Given the description of an element on the screen output the (x, y) to click on. 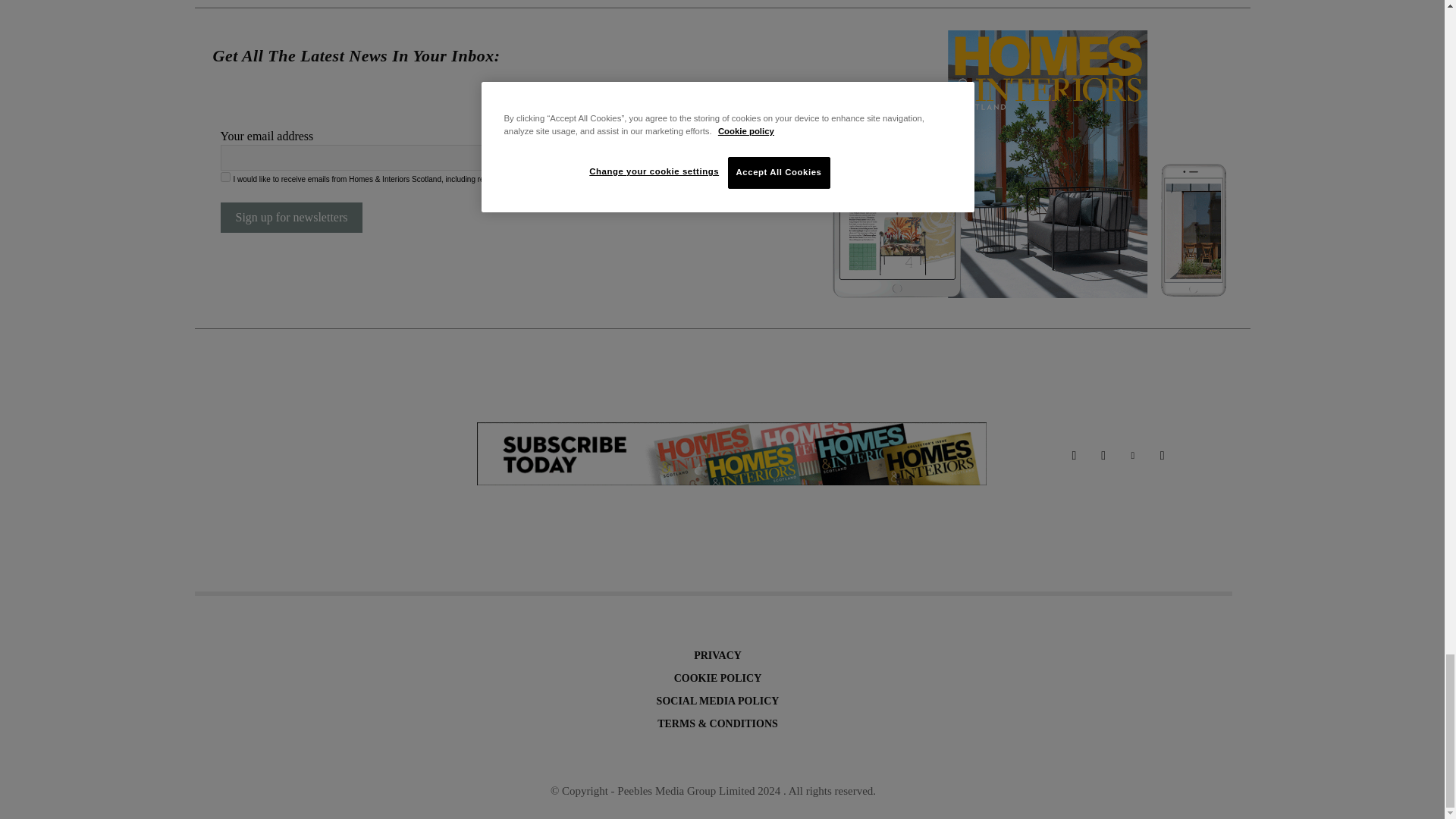
Sign up for newsletters (290, 217)
on (224, 176)
